Given the description of an element on the screen output the (x, y) to click on. 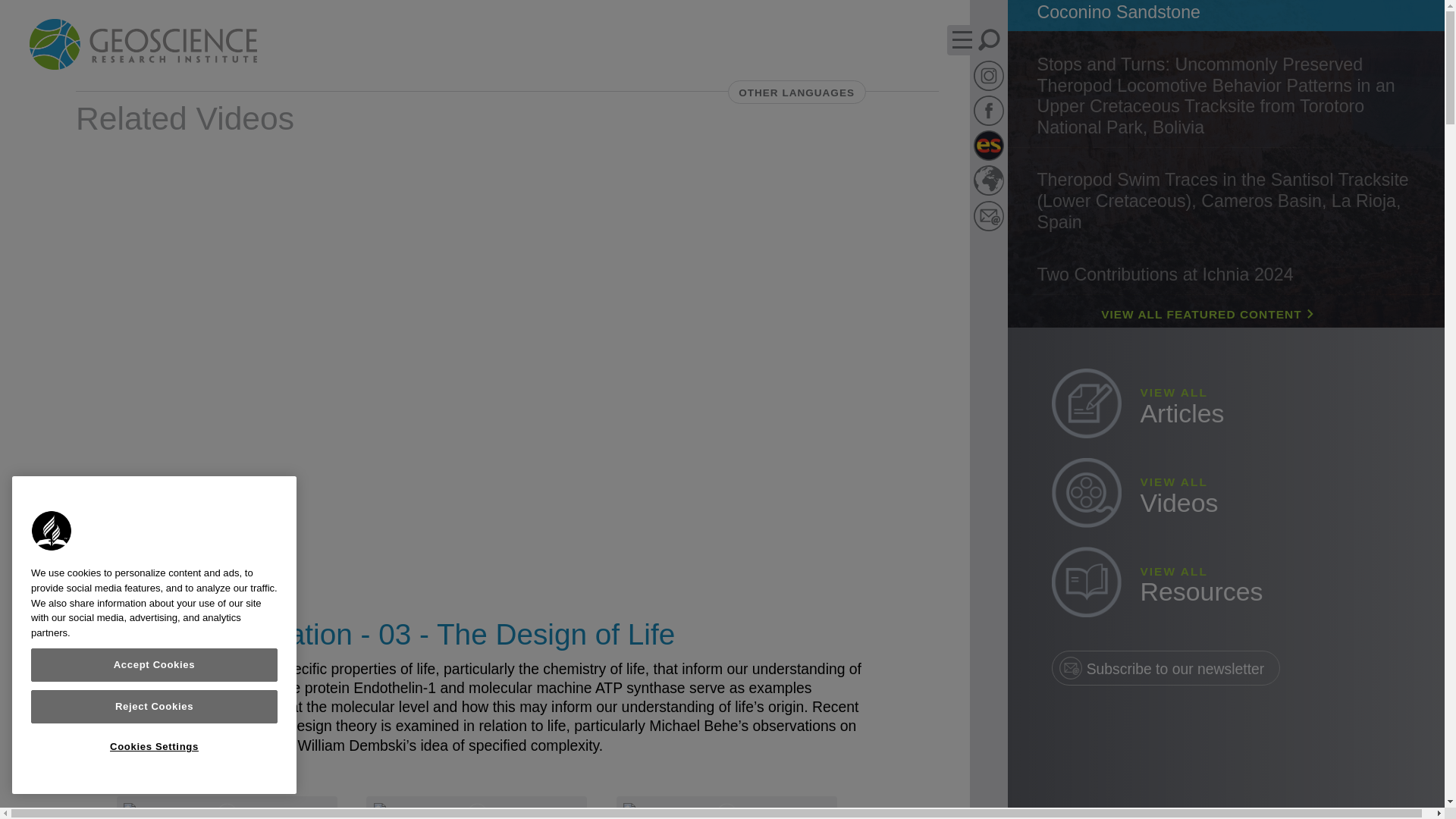
OTHER LANGUAGES (797, 92)
Company Logo (51, 530)
